Given the description of an element on the screen output the (x, y) to click on. 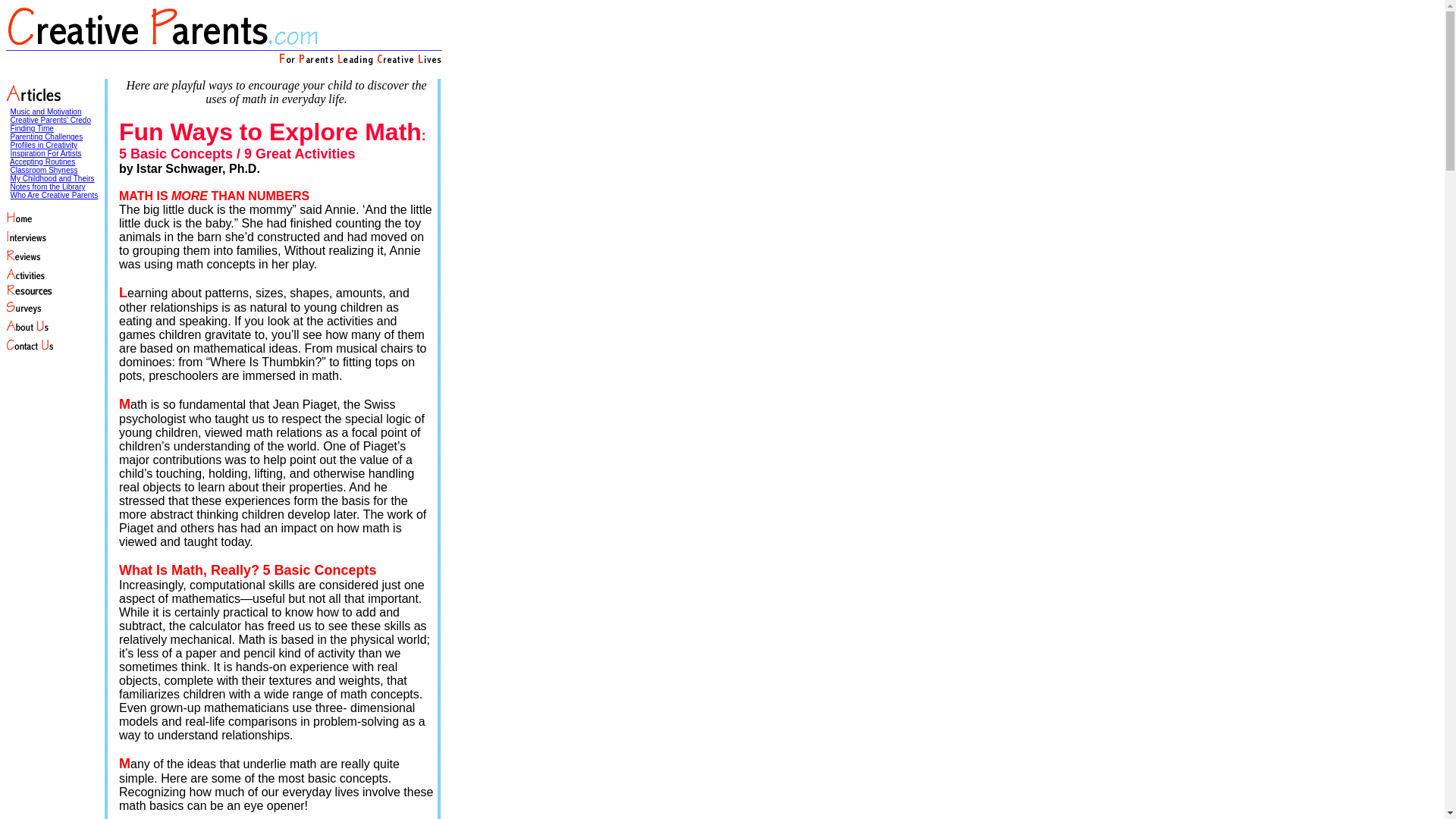
Music and Motivation (45, 111)
Creative Parents' Credo (50, 120)
Notes from the Library (47, 186)
Profiles in Creativity (43, 144)
Classroom Shyness (44, 170)
Accepting Routines (42, 162)
Finding Time (31, 128)
Parenting Challenges (46, 136)
My Childhood and Theirs (52, 178)
Inspiration For Artists (45, 153)
